Given the description of an element on the screen output the (x, y) to click on. 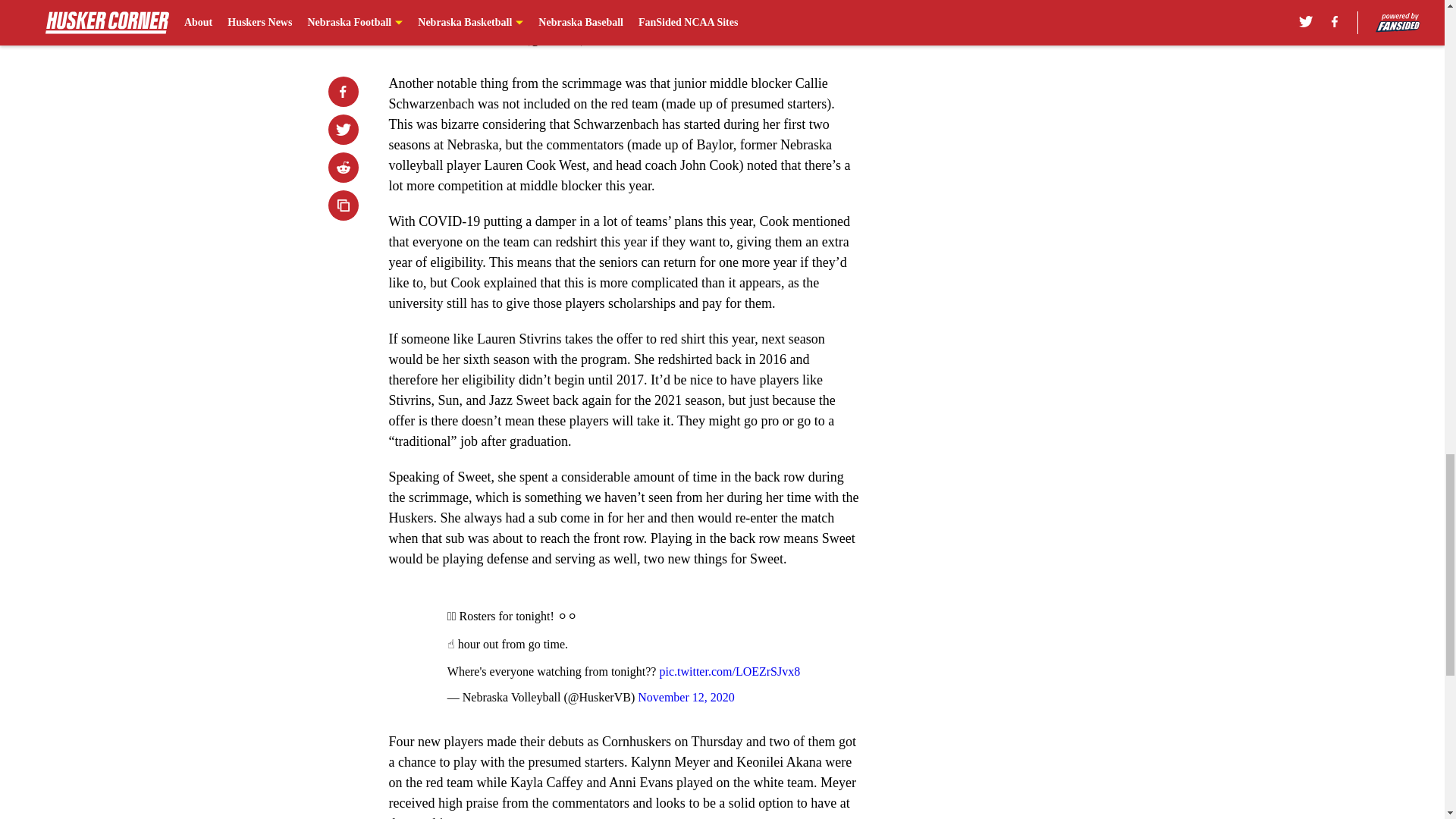
November 12, 2020 (686, 697)
November 13, 2020 (636, 38)
